Given the description of an element on the screen output the (x, y) to click on. 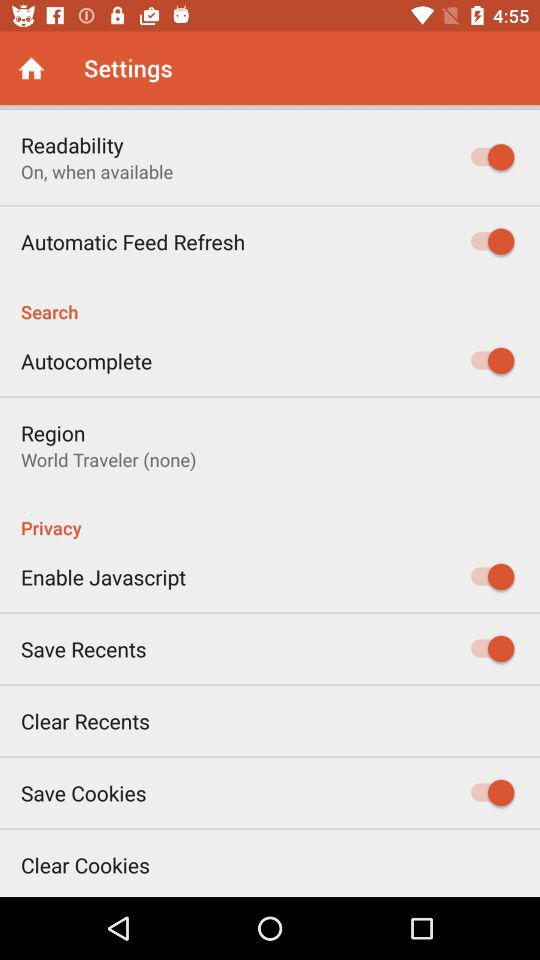
turn off icon above clear recents item (83, 648)
